Given the description of an element on the screen output the (x, y) to click on. 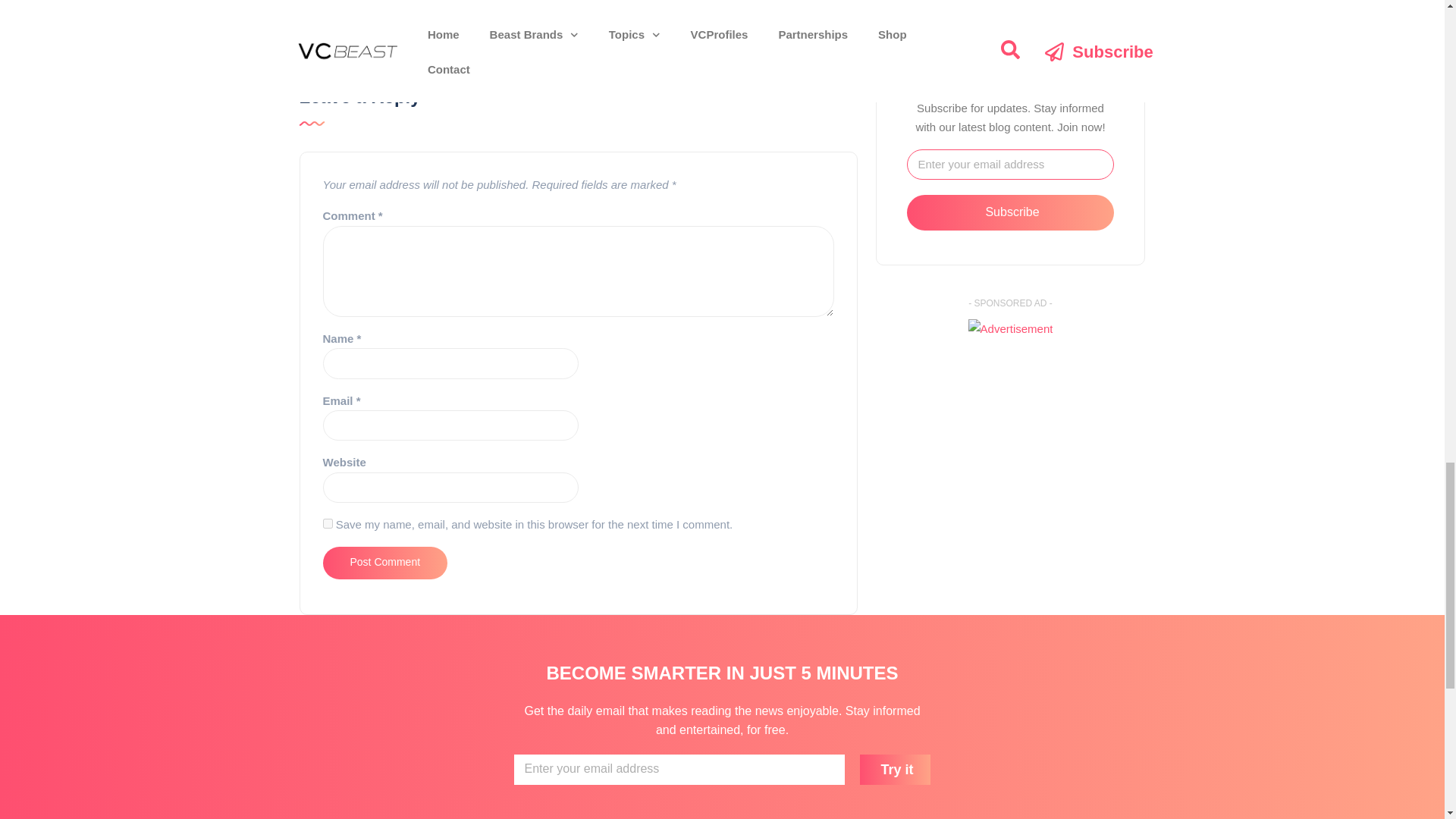
Post Comment (385, 563)
yes (328, 523)
